Given the description of an element on the screen output the (x, y) to click on. 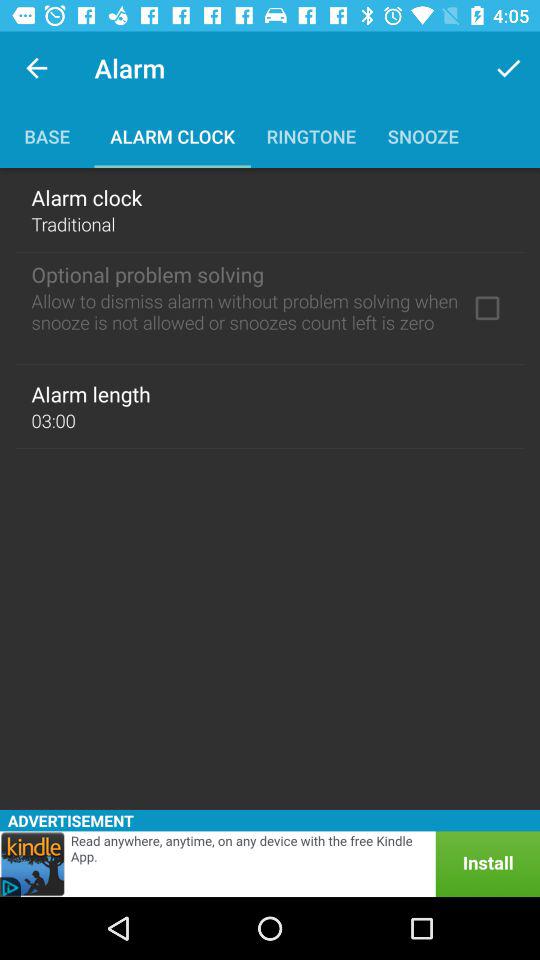
click app to the left of alarm app (36, 68)
